Given the description of an element on the screen output the (x, y) to click on. 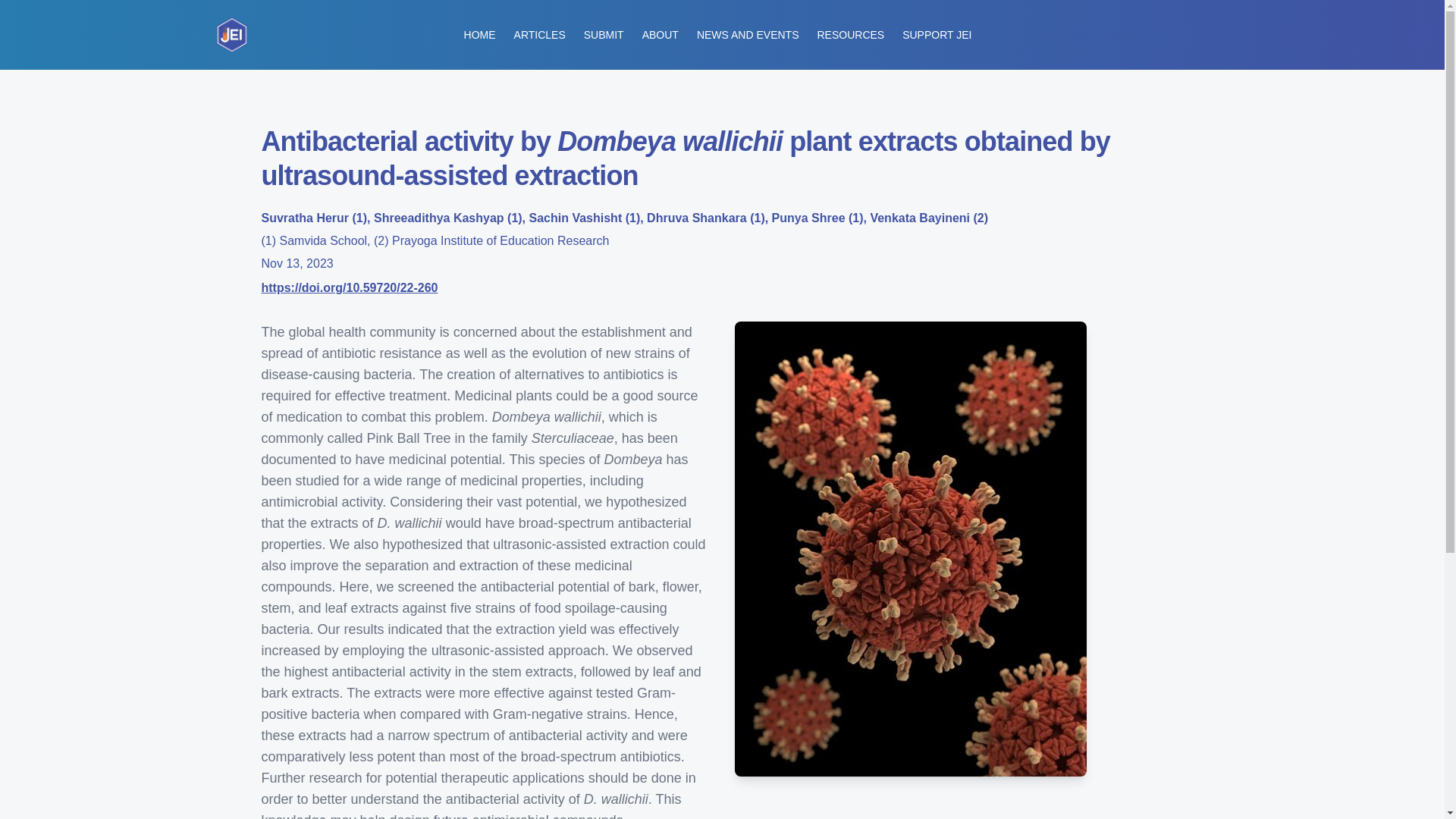
HOME (480, 34)
ABOUT (660, 34)
NEWS AND EVENTS (748, 34)
SUPPORT JEI (936, 34)
ARTICLES (539, 34)
SUBMIT (603, 34)
RESOURCES (849, 34)
